Given the description of an element on the screen output the (x, y) to click on. 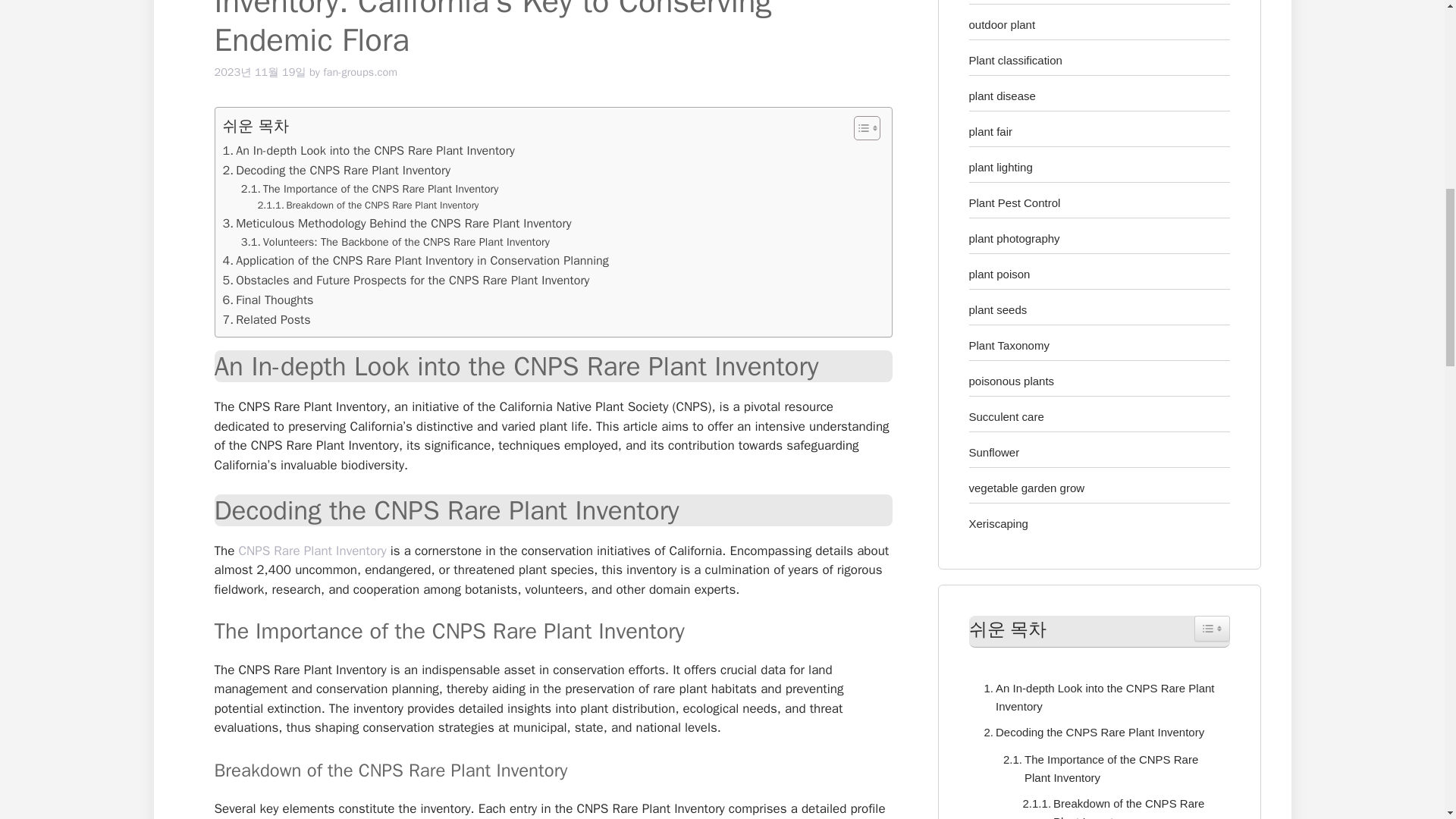
Breakdown of the CNPS Rare Plant Inventory (368, 205)
The Importance of the CNPS Rare Plant Inventory (370, 189)
Final Thoughts (268, 300)
Final Thoughts (268, 300)
Decoding the CNPS Rare Plant Inventory (335, 170)
Related Posts (266, 320)
CNPS Rare Plant Inventory (311, 550)
Meticulous Methodology Behind the CNPS Rare Plant Inventory (397, 223)
fan-groups.com (360, 71)
Related Posts (266, 320)
Volunteers: The Backbone of the CNPS Rare Plant Inventory (395, 241)
Volunteers: The Backbone of the CNPS Rare Plant Inventory (395, 241)
The Importance of the CNPS Rare Plant Inventory (1109, 769)
